Given the description of an element on the screen output the (x, y) to click on. 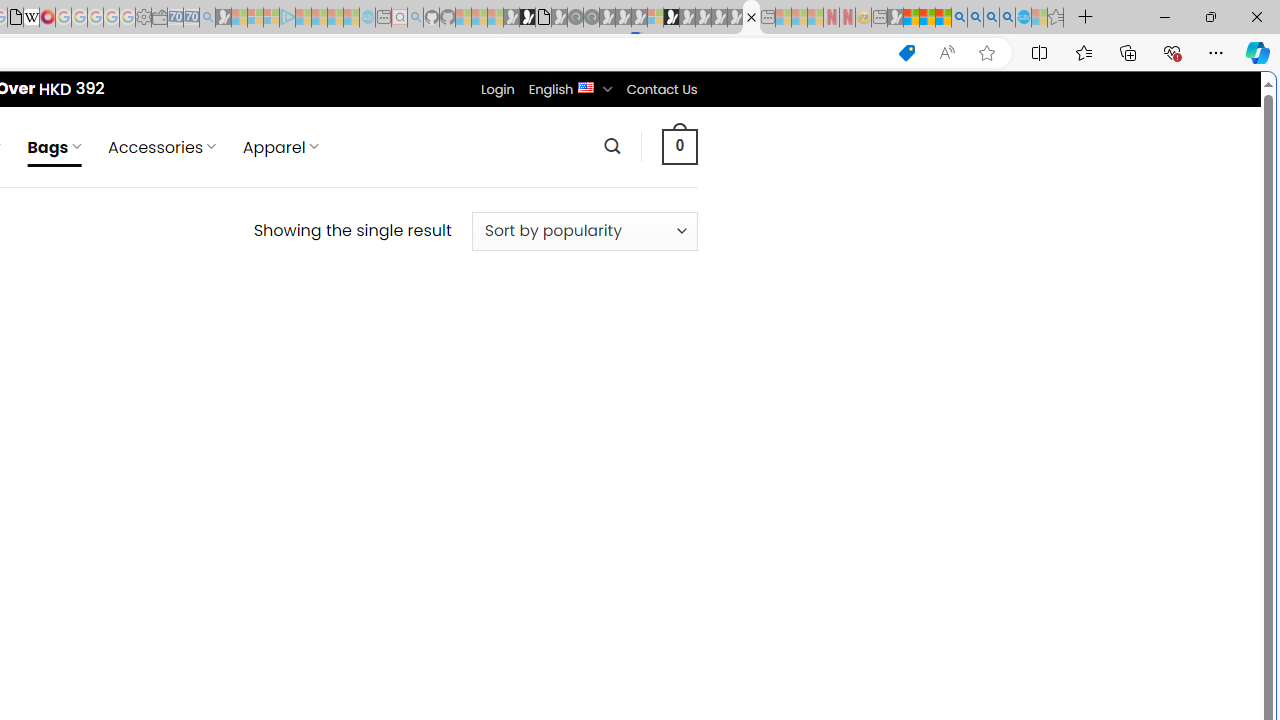
Microsoft account | Privacy - Sleeping (271, 17)
Login (497, 89)
Play Cave FRVR in your browser | Games from Microsoft Start (343, 426)
New tab - Sleeping (879, 17)
Close split screen (844, 102)
Favorites - Sleeping (1055, 17)
Login (497, 89)
